Given the description of an element on the screen output the (x, y) to click on. 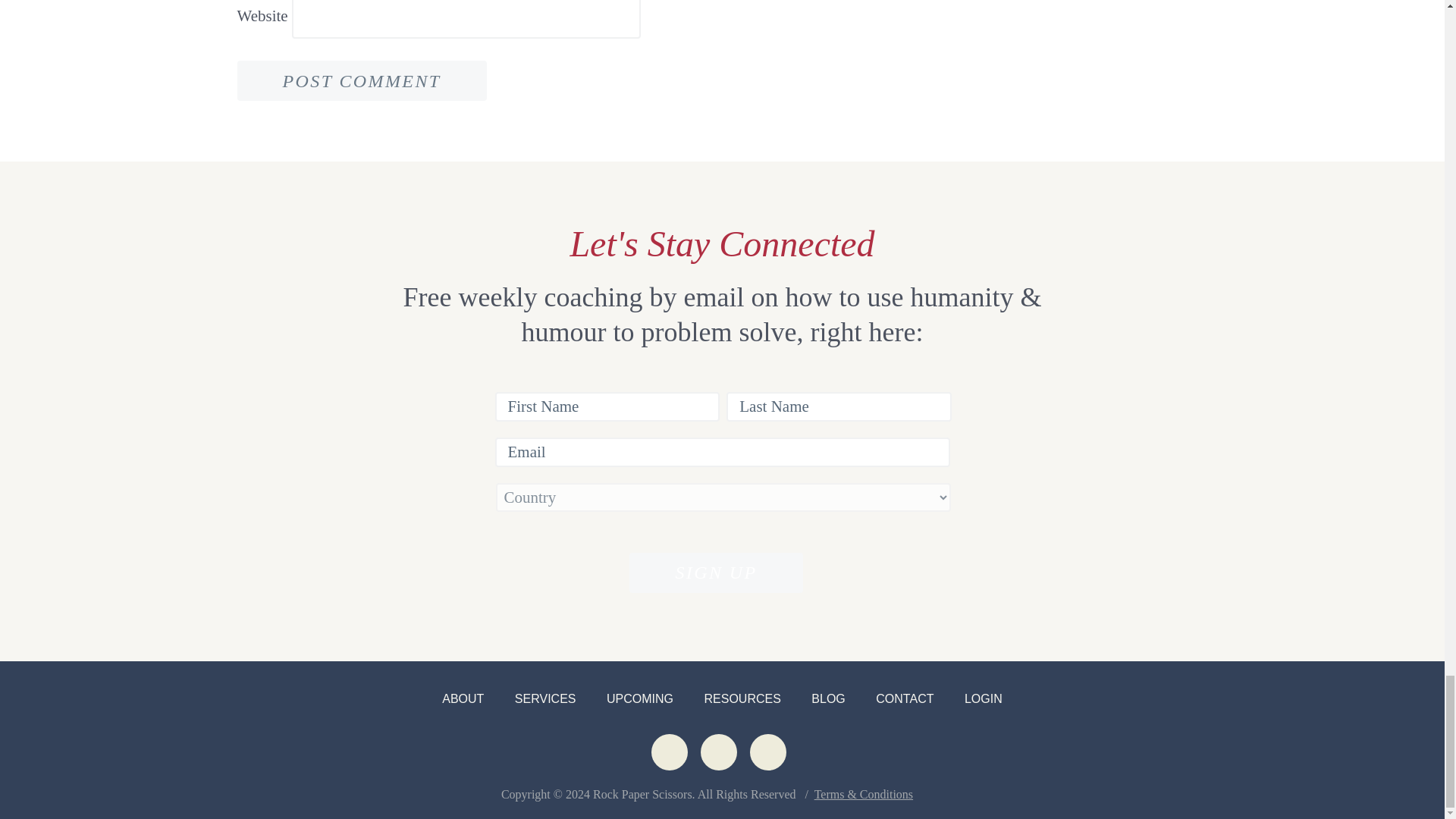
Sign Up (715, 572)
Post Comment (360, 80)
Post Comment (360, 80)
ABOUT (462, 698)
Sign Up (715, 572)
SERVICES (545, 698)
